Given the description of an element on the screen output the (x, y) to click on. 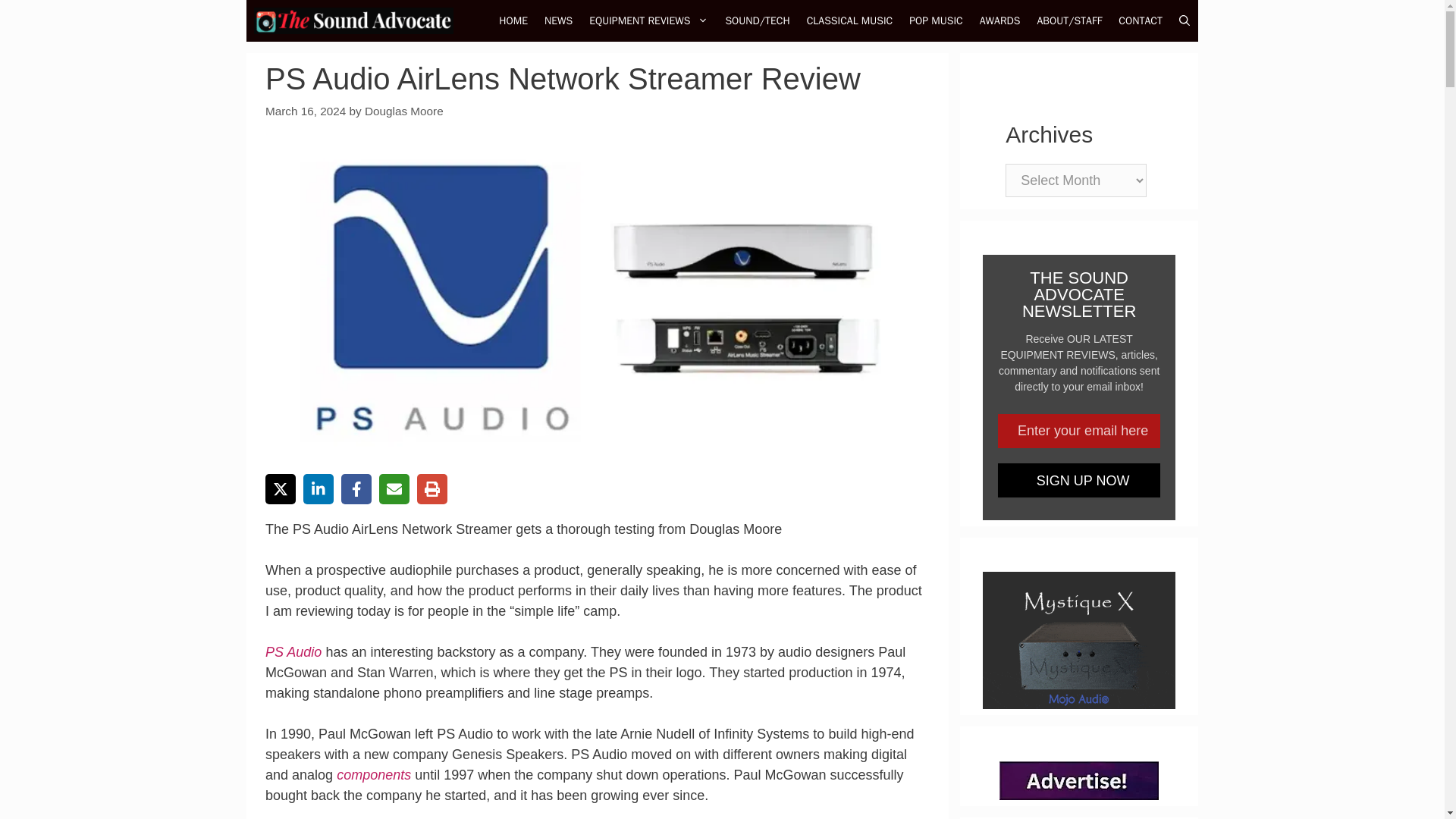
EQUIPMENT REVIEWS (648, 20)
POP MUSIC (936, 20)
The Sound Advocate (352, 20)
Sign Up Now (1078, 480)
components (375, 774)
The Sound Advocate (357, 20)
CLASSICAL MUSIC (849, 20)
NEWS (557, 20)
View all posts by Douglas Moore (404, 110)
AWARDS (1000, 20)
